Given the description of an element on the screen output the (x, y) to click on. 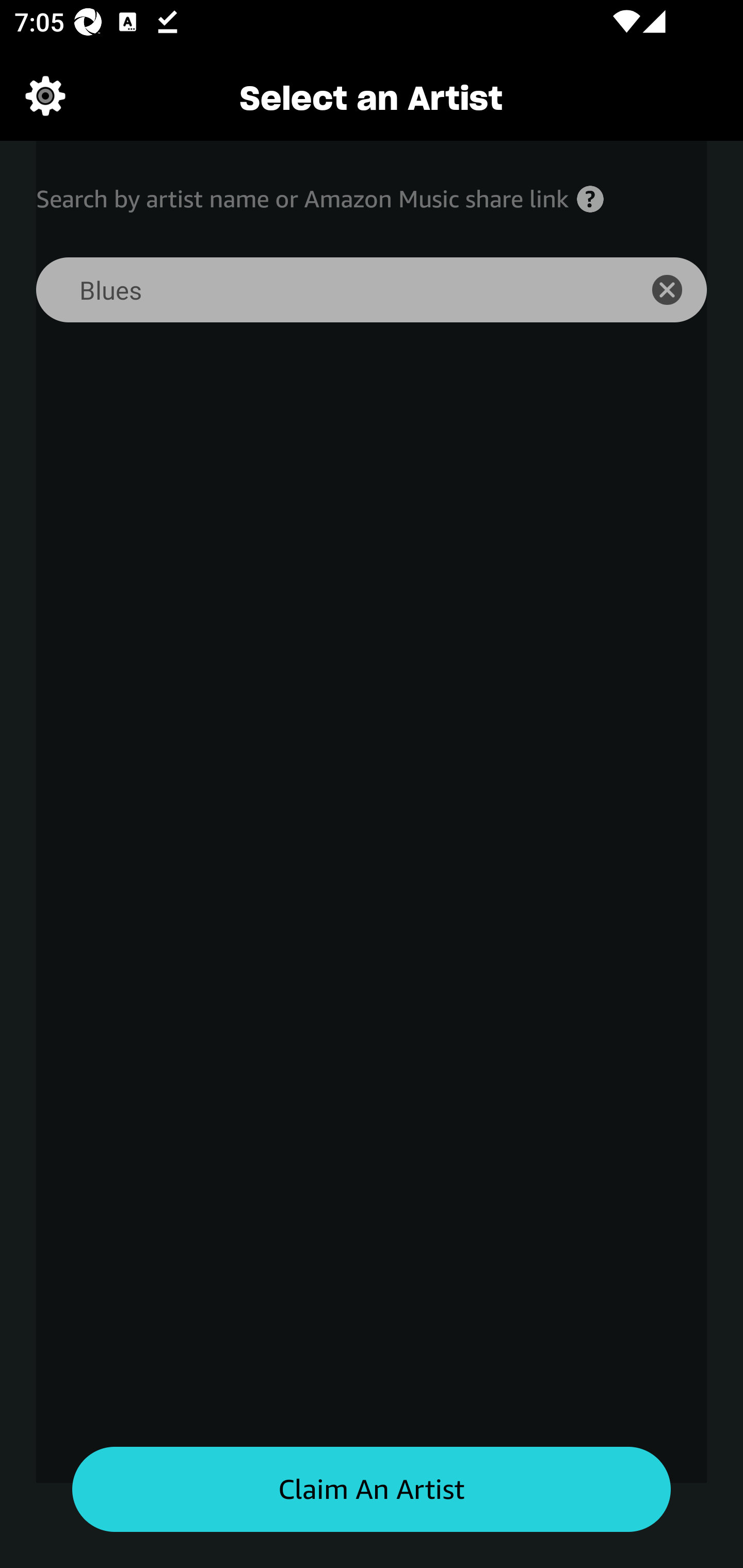
Help  icon (589, 199)
Blues Search for an artist search bar (324, 290)
 icon (677, 290)
Claim an artist button Claim An Artist (371, 1489)
